Given the description of an element on the screen output the (x, y) to click on. 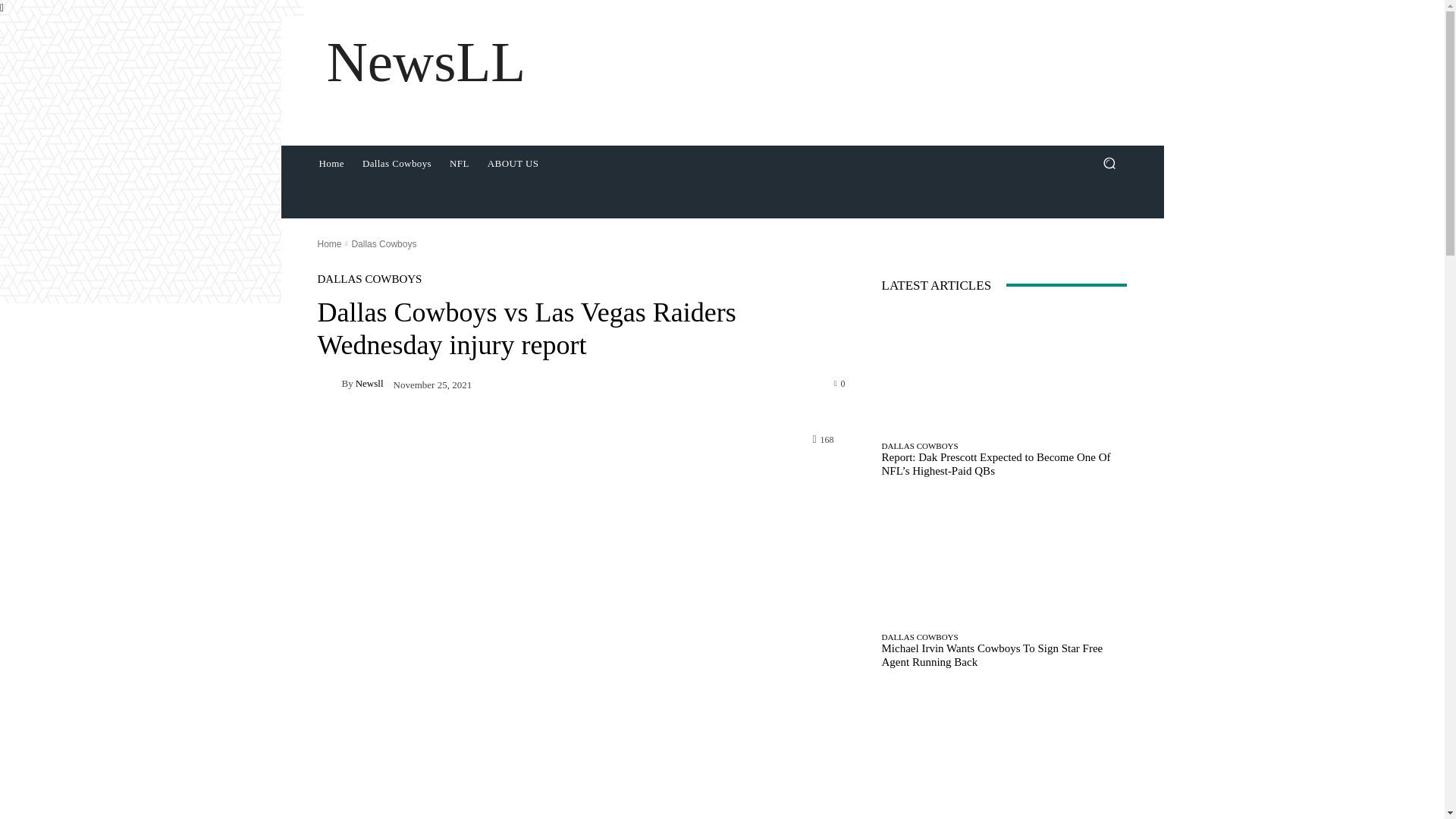
View all posts in Dallas Cowboys (383, 243)
newsll (328, 383)
Dallas Cowboys (397, 163)
Home (328, 243)
Dallas Cowboys (383, 243)
ABOUT US (513, 163)
NewsLL (425, 62)
Home (330, 163)
DALLAS COWBOYS (369, 278)
Newsll (369, 383)
